Given the description of an element on the screen output the (x, y) to click on. 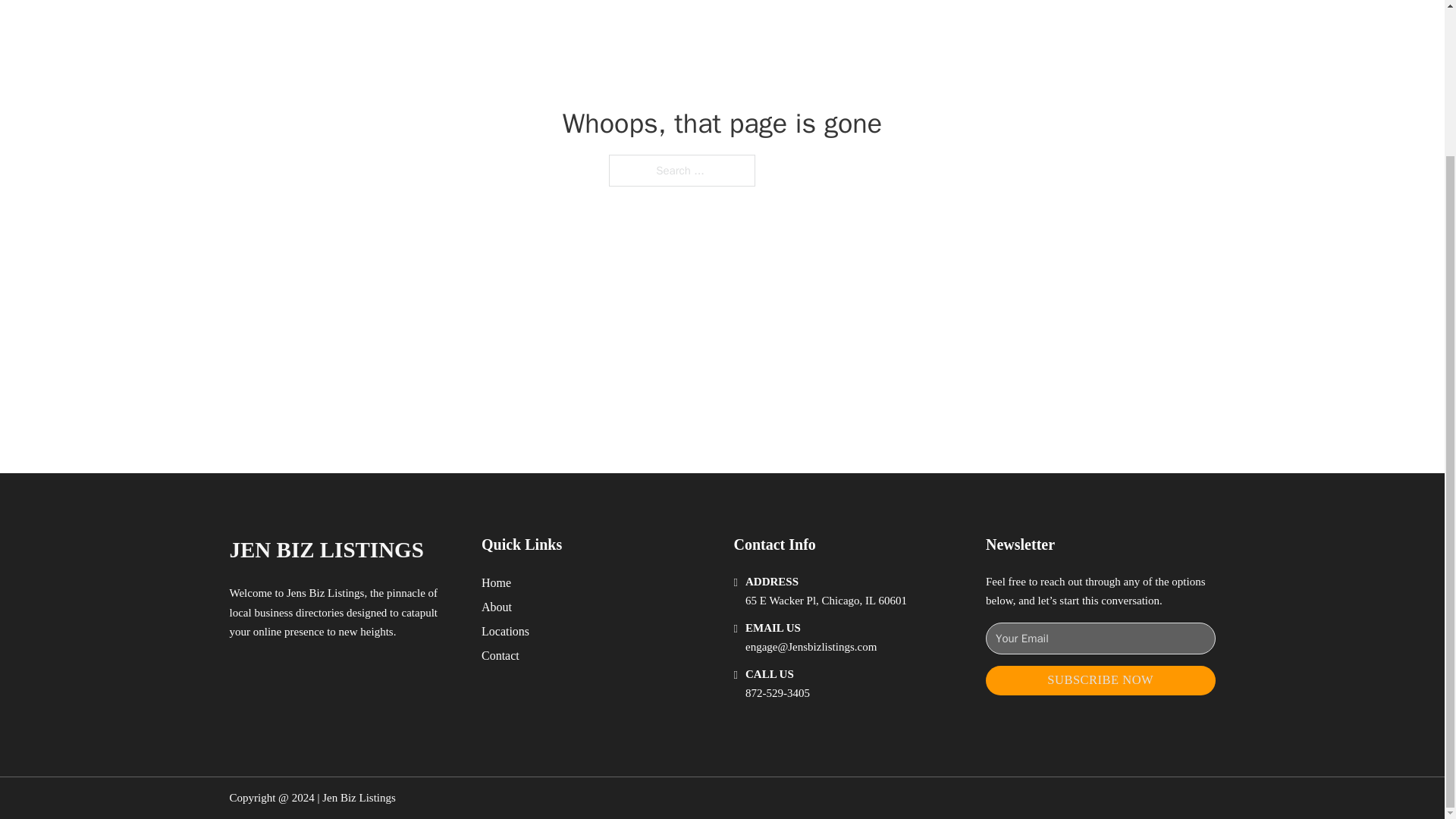
SUBSCRIBE NOW (1100, 680)
JEN BIZ LISTINGS (325, 549)
Locations (505, 630)
Contact (500, 655)
872-529-3405 (777, 693)
Home (496, 582)
About (496, 607)
